Given the description of an element on the screen output the (x, y) to click on. 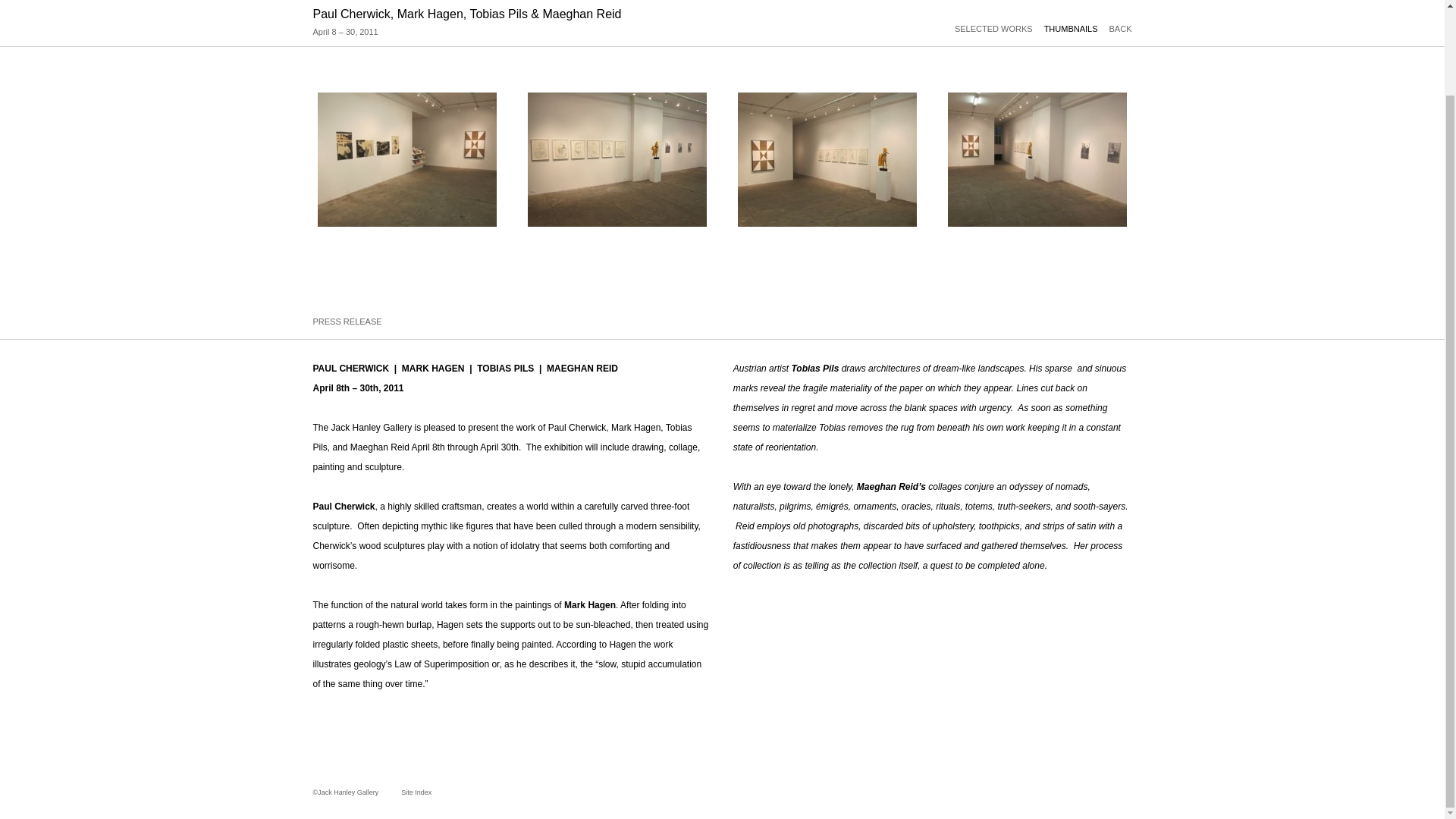
SELECTED WORKS (999, 28)
BACK (1120, 28)
THUMBNAILS (1076, 28)
PRESS RELEASE (347, 320)
Site Index (404, 792)
